Given the description of an element on the screen output the (x, y) to click on. 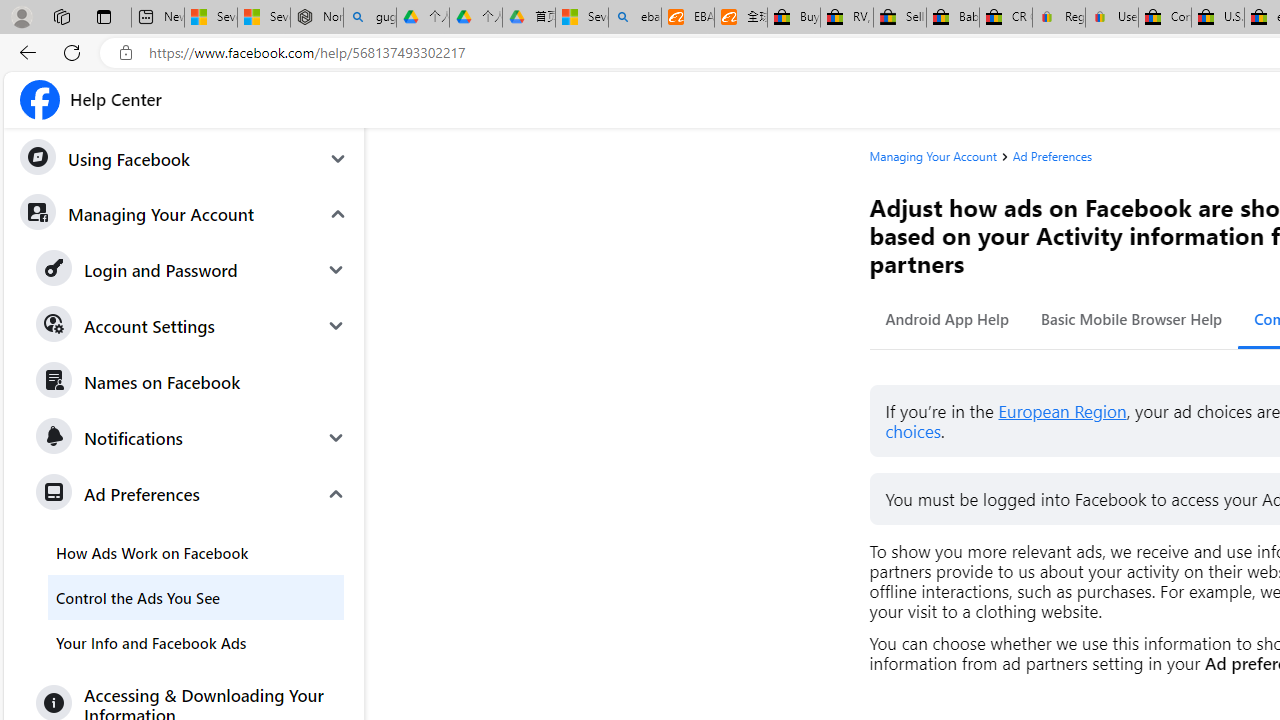
Managing Your Account (933, 156)
Class: x1lliihq x1tzjh5l x1k90msu x2h7rmj x1qfuztq x19dipnz (40, 99)
Managing Your Account (183, 213)
Account Settings (191, 326)
Consumer Health Data Privacy Policy - eBay Inc. (1165, 17)
Account Settings Expand (191, 326)
Sell worldwide with eBay (899, 17)
Using Facebook (183, 159)
Ad Preferences (1052, 156)
Buy Auto Parts & Accessories | eBay (794, 17)
How Ads Work on Facebook (195, 552)
